Given the description of an element on the screen output the (x, y) to click on. 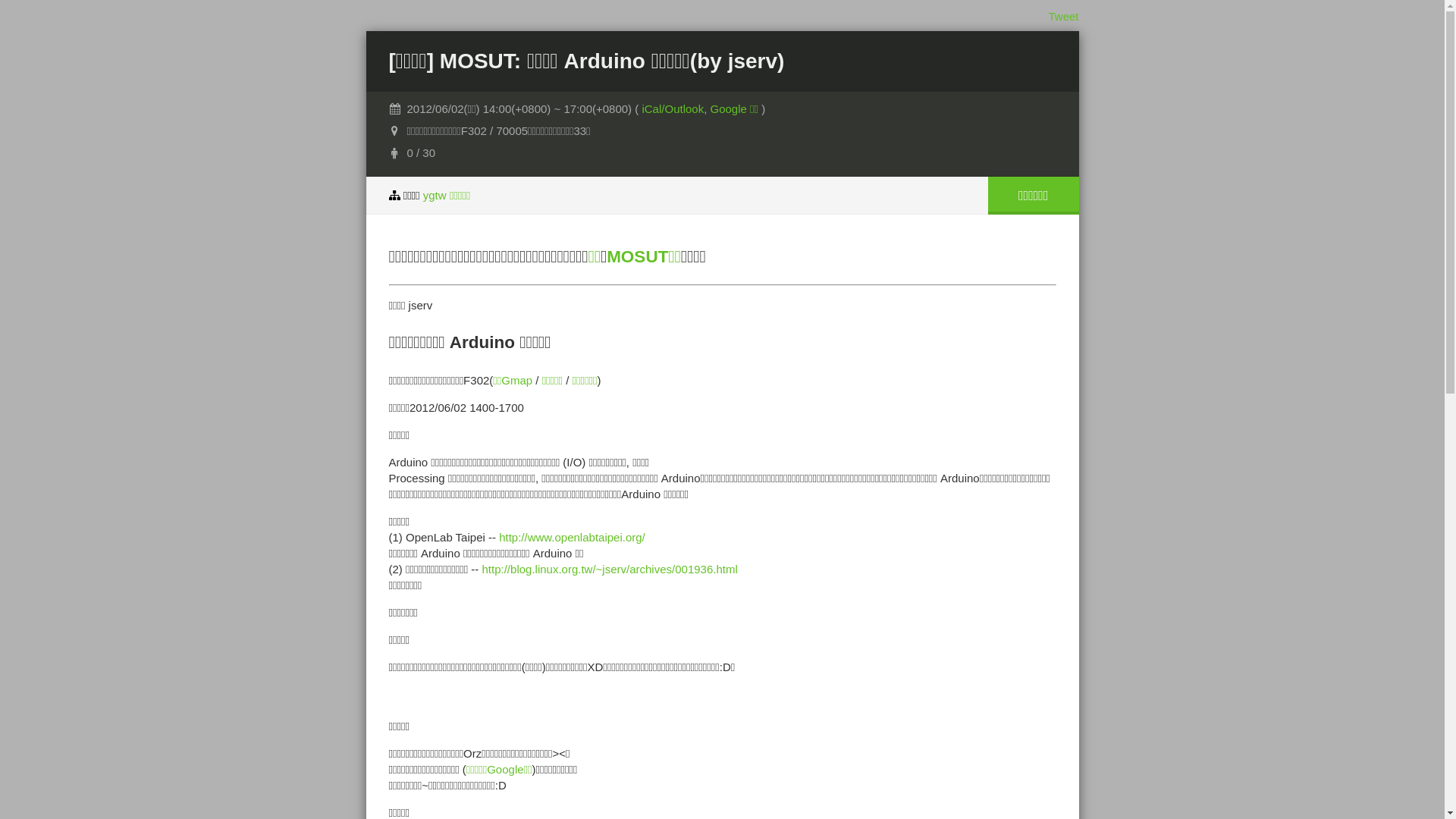
http://www.openlabtaipei.org/ Element type: text (571, 536)
http://blog.linux.org.tw/~jserv/archives/001936.html Element type: text (609, 568)
iCal/Outlook Element type: text (672, 108)
Tweet Element type: text (1063, 15)
